Given the description of an element on the screen output the (x, y) to click on. 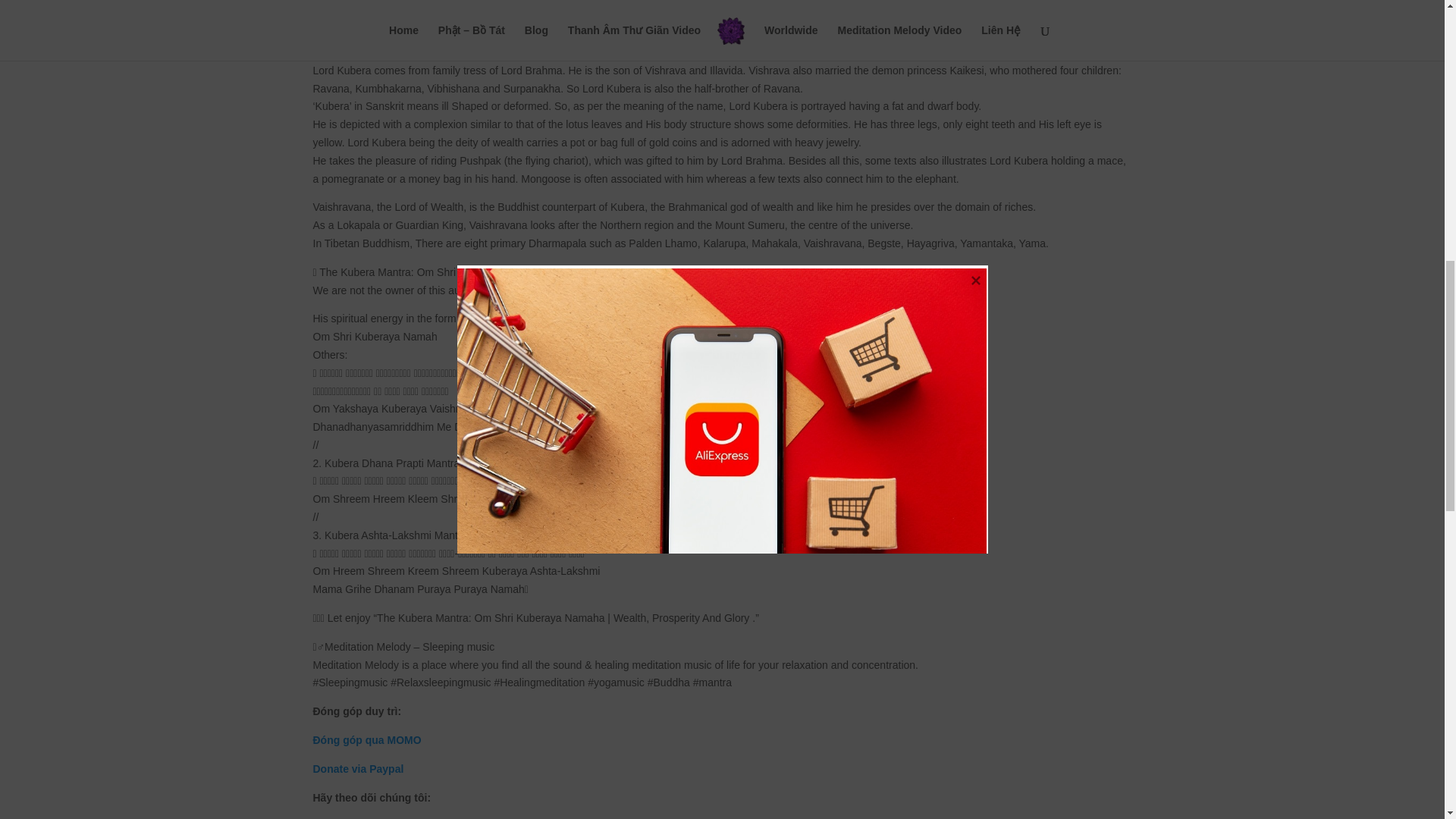
Donate via Paypal (358, 768)
